Given the description of an element on the screen output the (x, y) to click on. 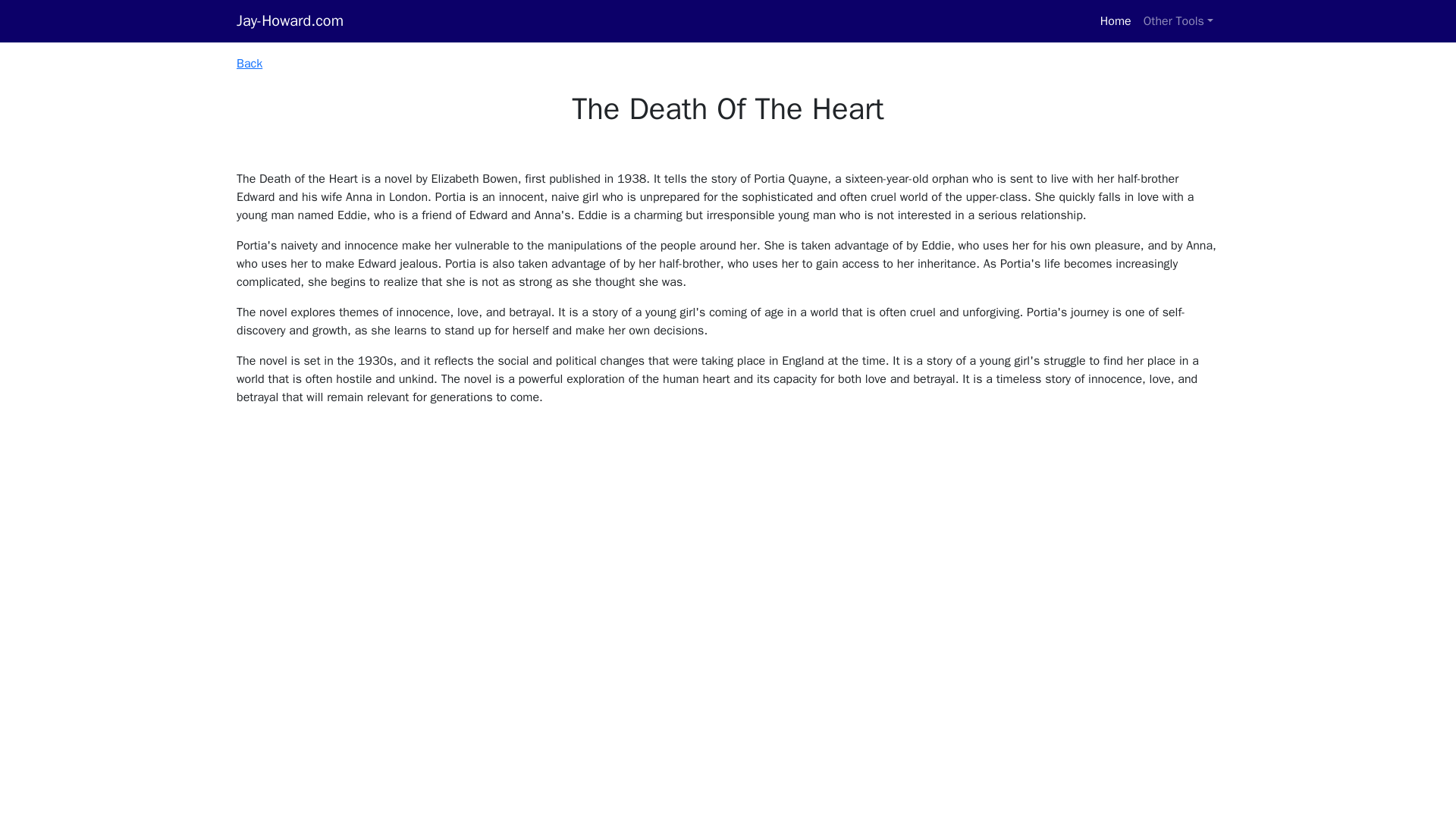
Back (248, 63)
Home (1115, 20)
Other Tools (1178, 20)
Jay-Howard.com (289, 20)
